Given the description of an element on the screen output the (x, y) to click on. 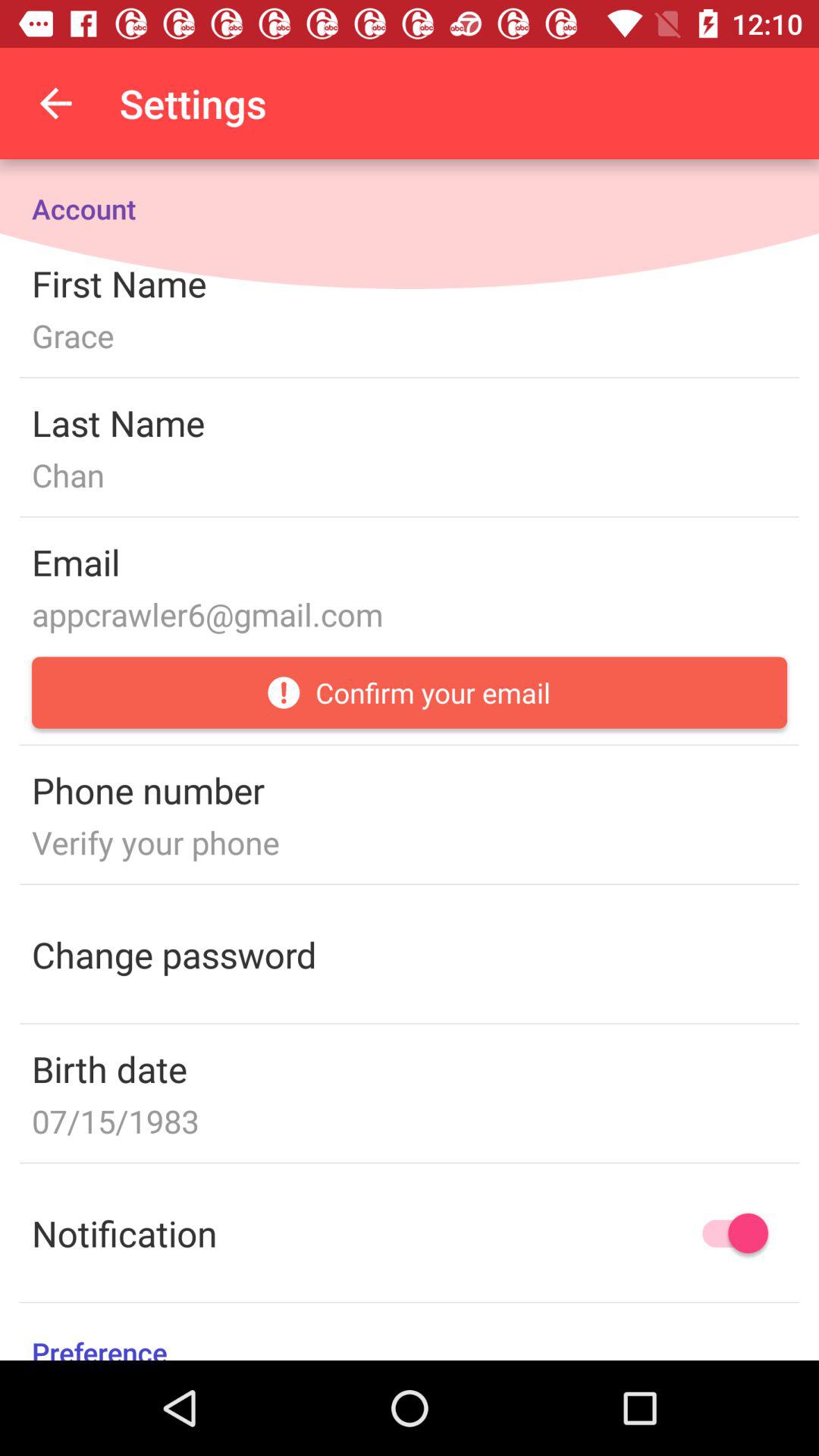
turn on the icon above account item (55, 103)
